Given the description of an element on the screen output the (x, y) to click on. 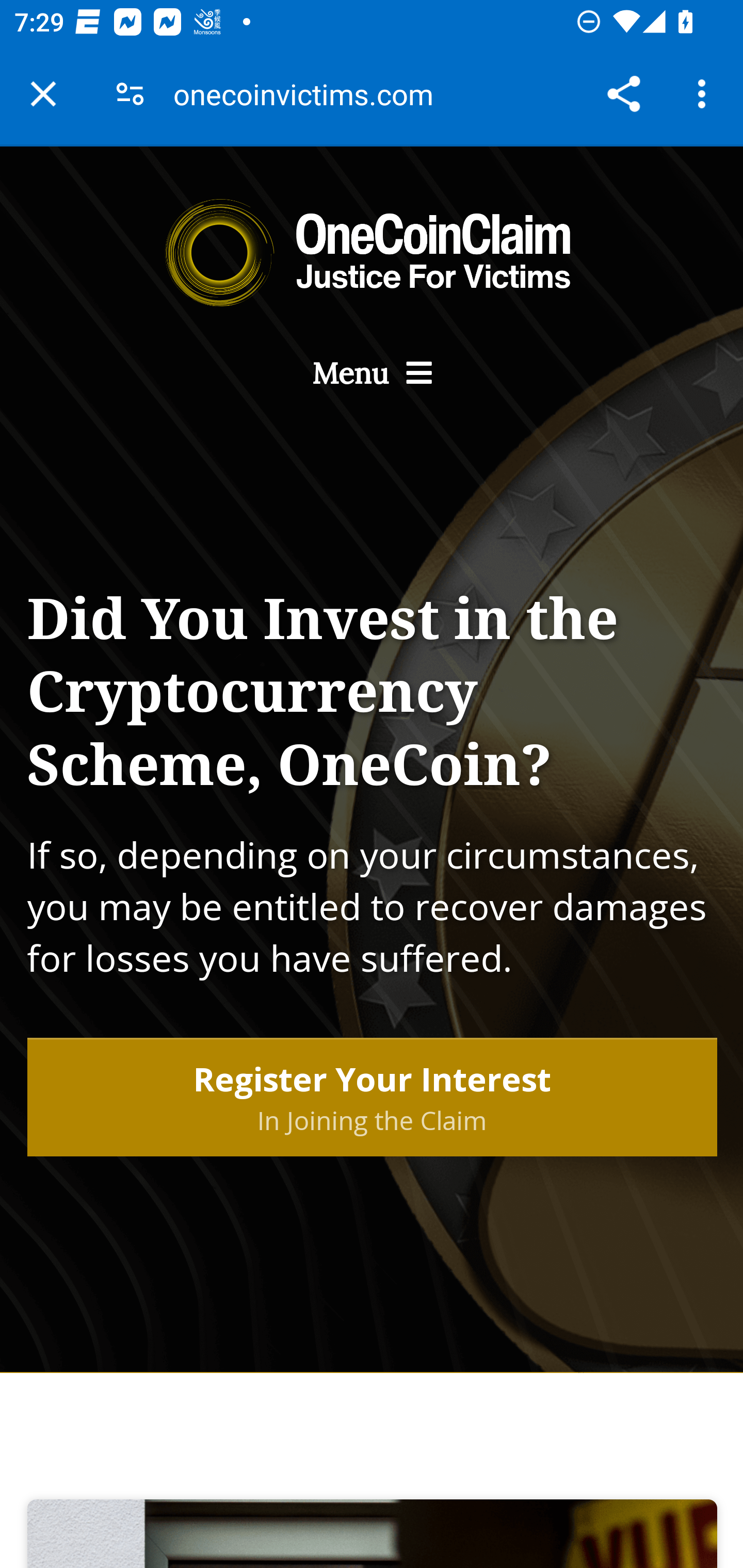
Close tab (43, 93)
Share (623, 93)
Customize and control Google Chrome (705, 93)
Connection is secure (129, 93)
onecoinvictims.com (310, 93)
Menu  Menu  (371, 373)
